Given the description of an element on the screen output the (x, y) to click on. 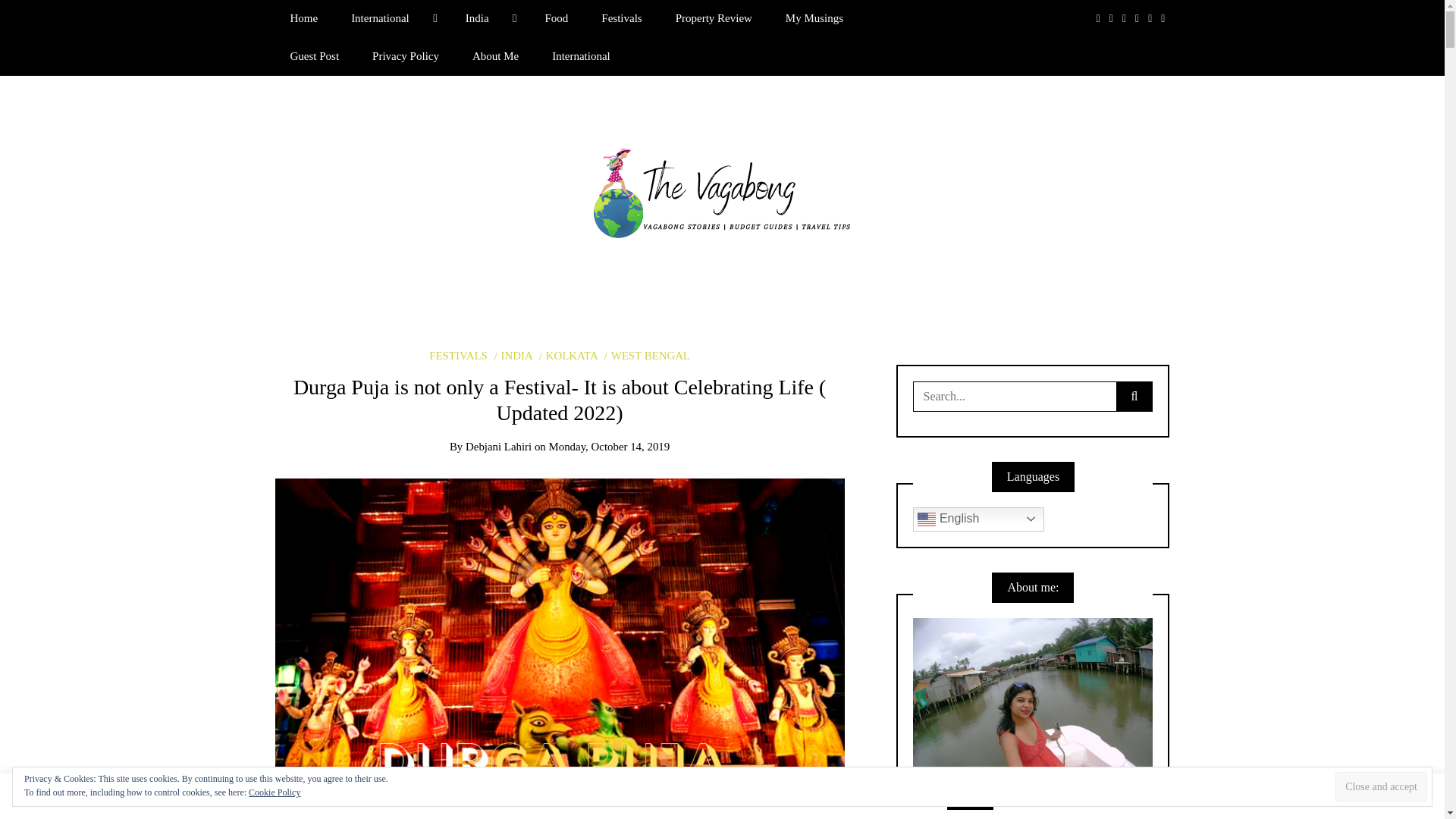
International (391, 18)
Close and accept (1380, 786)
Home (304, 18)
Posts by Debjani Lahiri (498, 446)
